Given the description of an element on the screen output the (x, y) to click on. 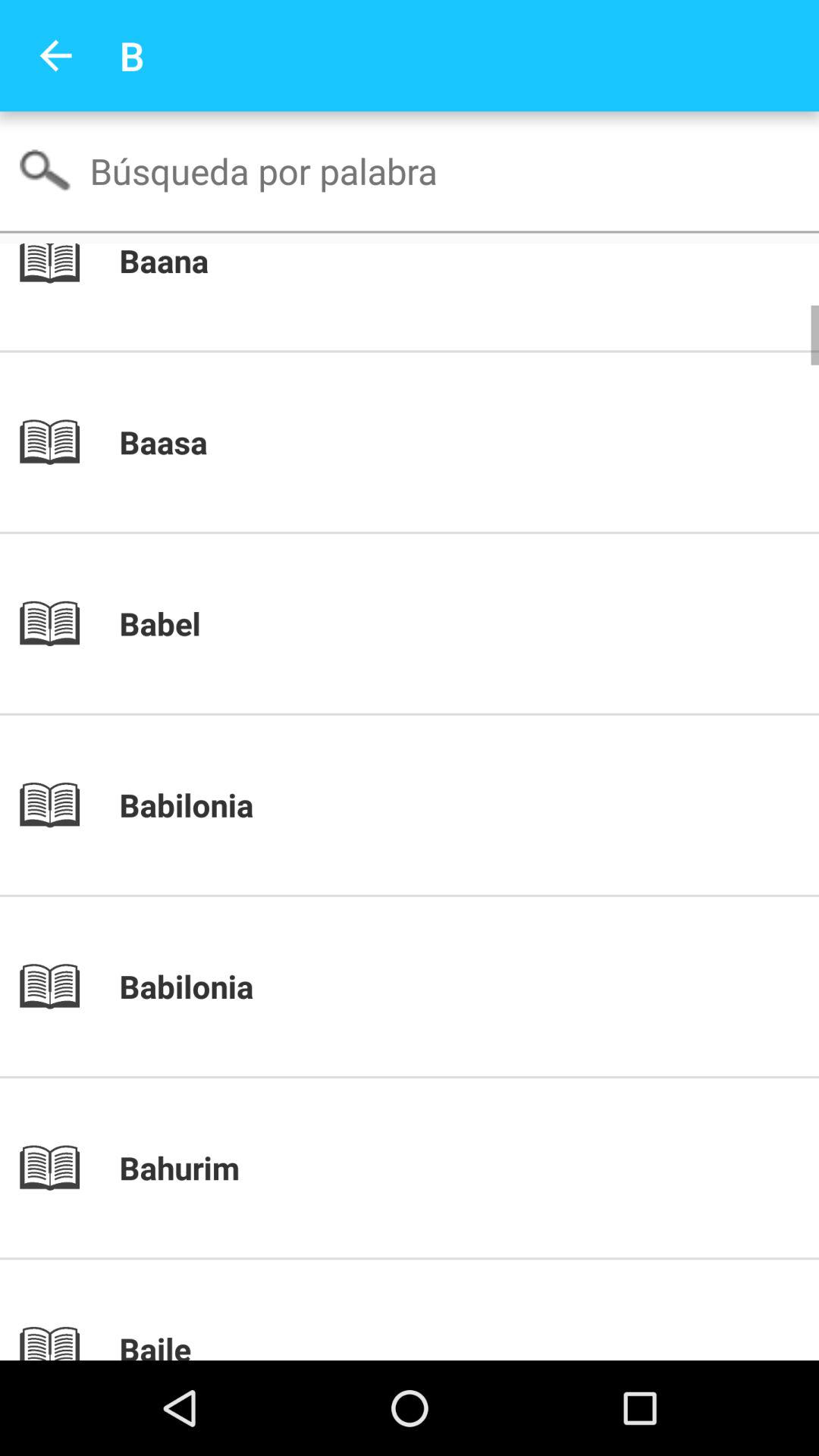
open the baile (435, 1344)
